Given the description of an element on the screen output the (x, y) to click on. 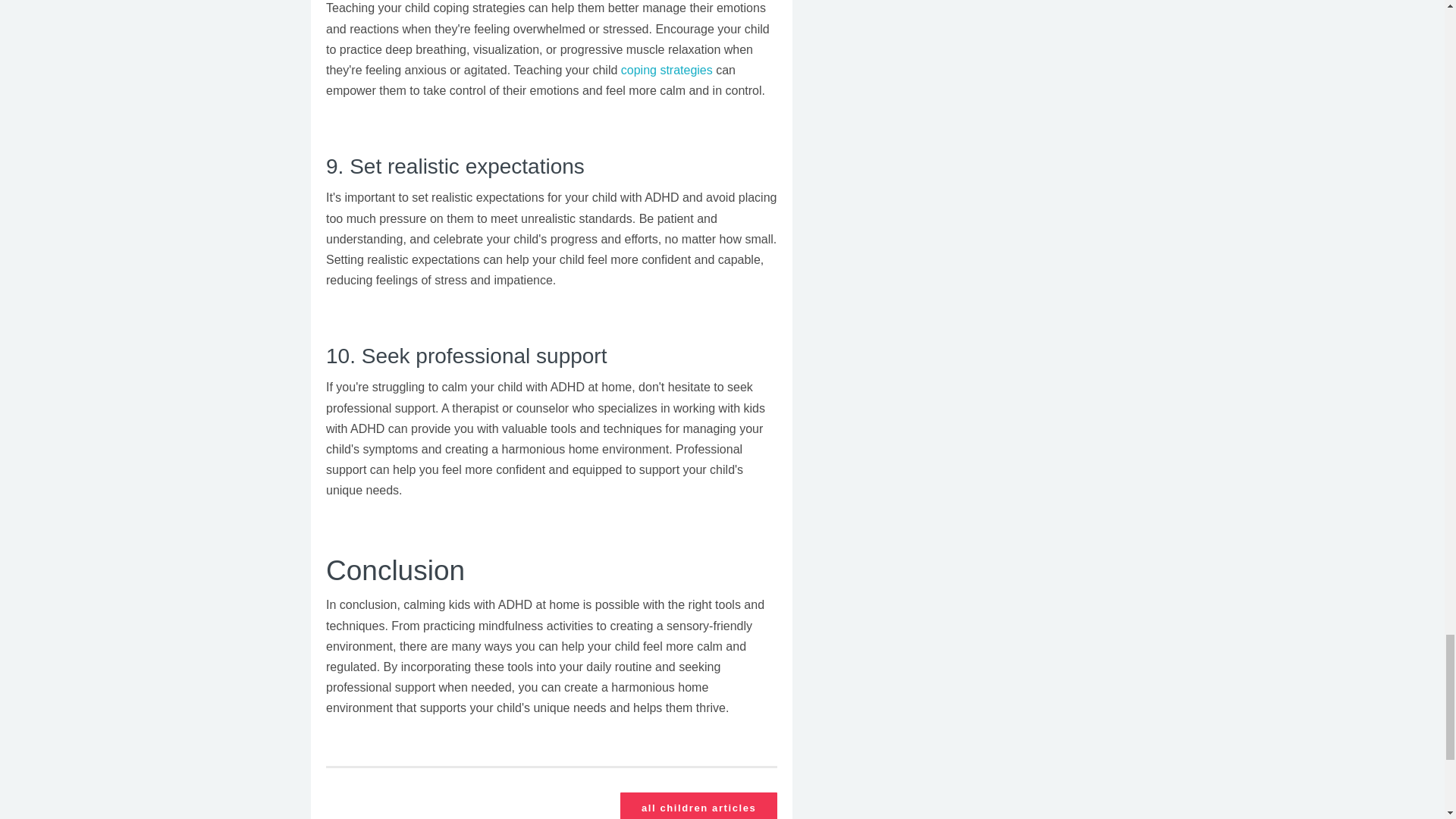
all children articles (698, 805)
coping strategies (668, 69)
